Given the description of an element on the screen output the (x, y) to click on. 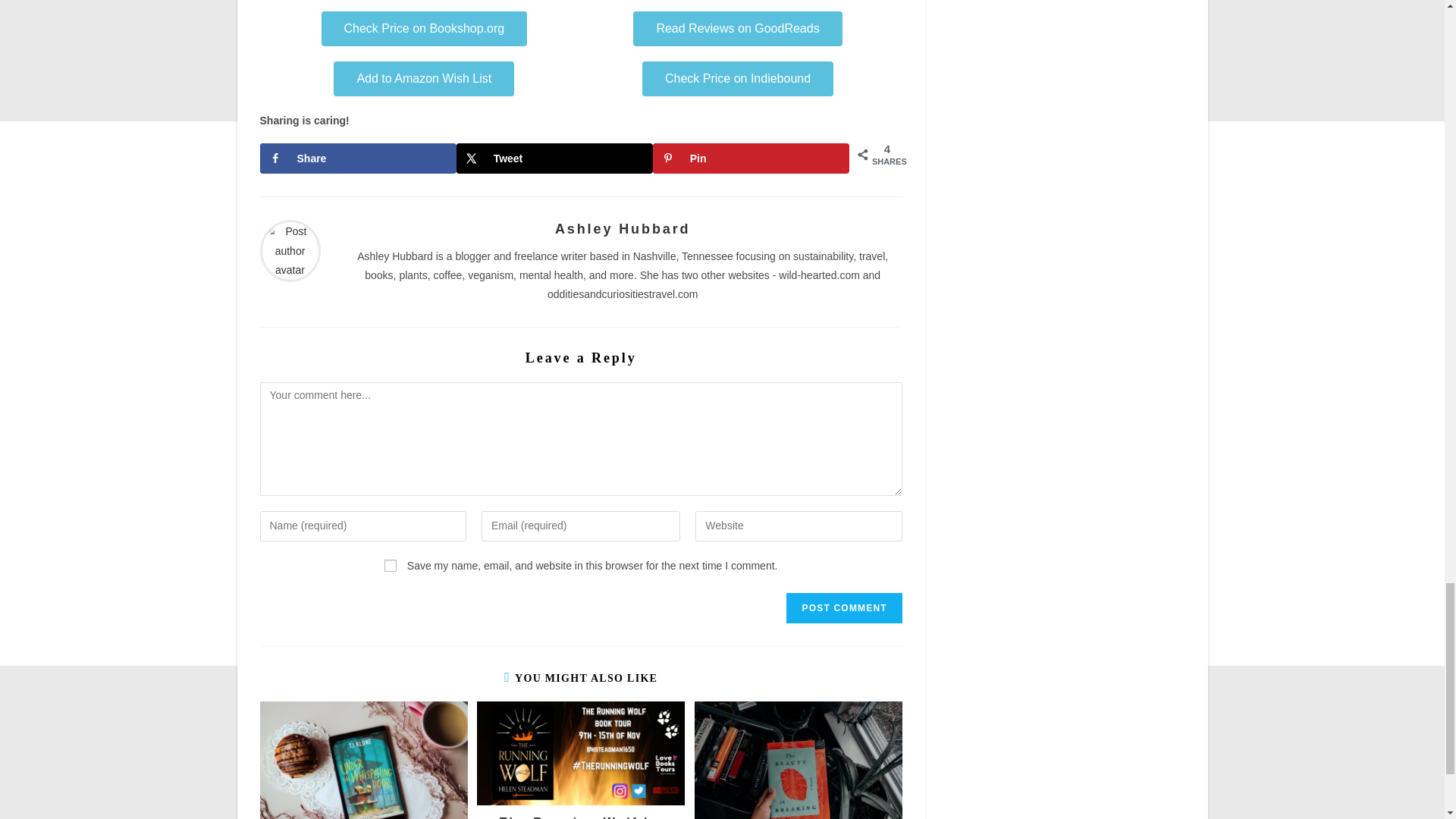
Check Price on Bookshop.org (424, 28)
Post Comment (843, 607)
Visit author page (622, 228)
Share on Facebook (357, 158)
Save to Pinterest (750, 158)
Visit author page (289, 250)
Share on X (554, 158)
Read Reviews on GoodReads (737, 28)
yes (390, 565)
